Given the description of an element on the screen output the (x, y) to click on. 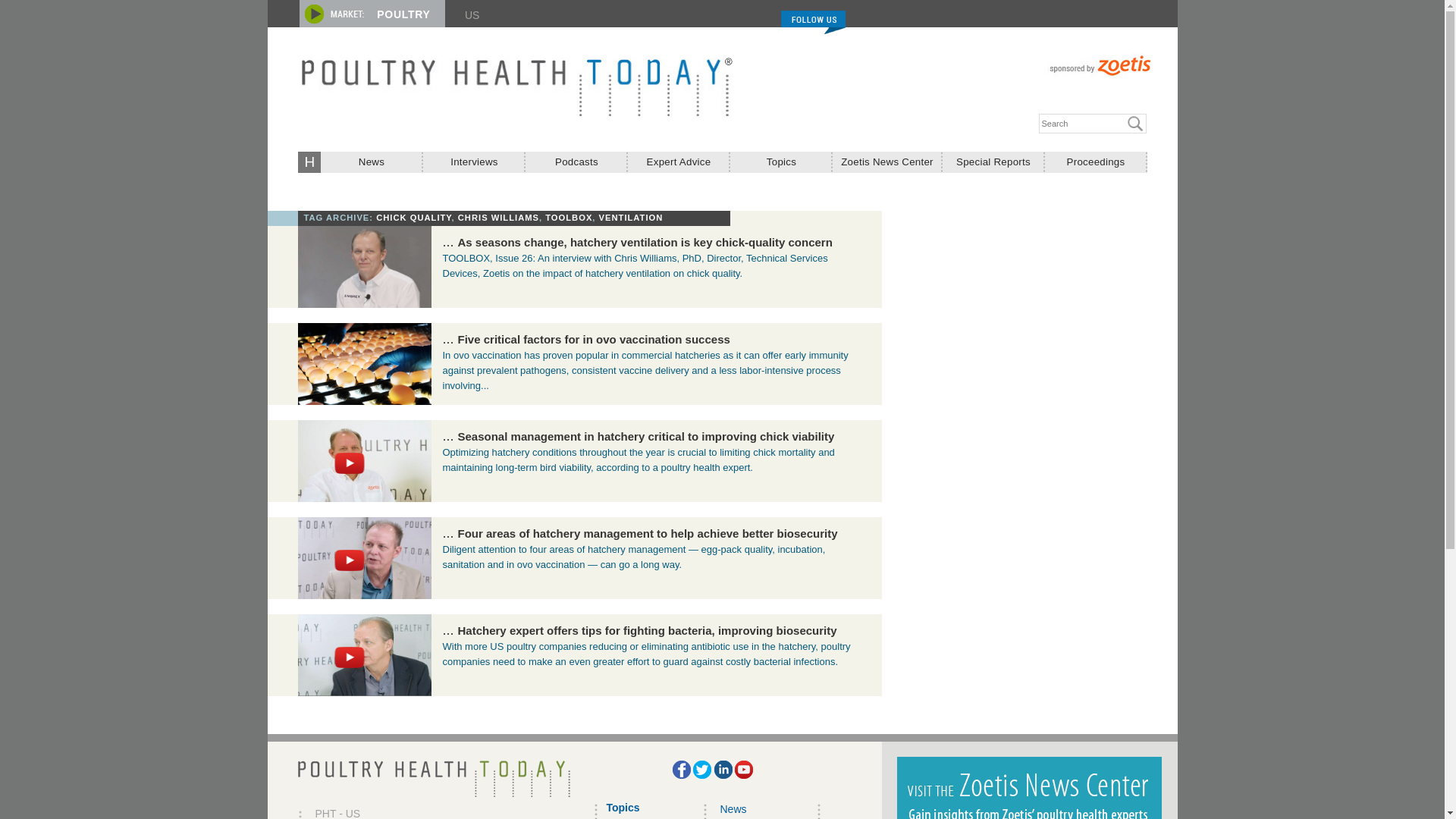
US (471, 15)
Interviews (474, 161)
News (371, 161)
HOME (308, 160)
Five critical factors for in ovo vaccination success (594, 338)
